Given the description of an element on the screen output the (x, y) to click on. 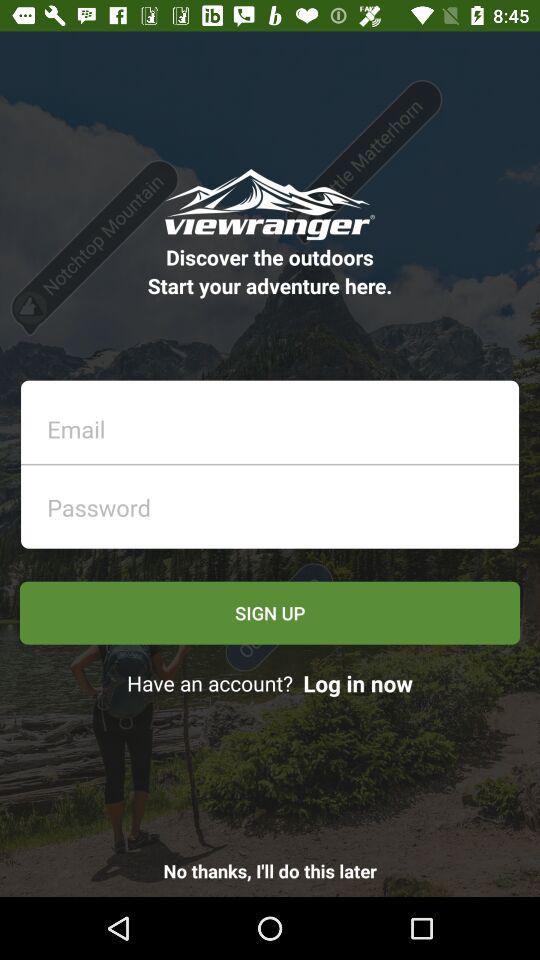
type password (276, 501)
